Given the description of an element on the screen output the (x, y) to click on. 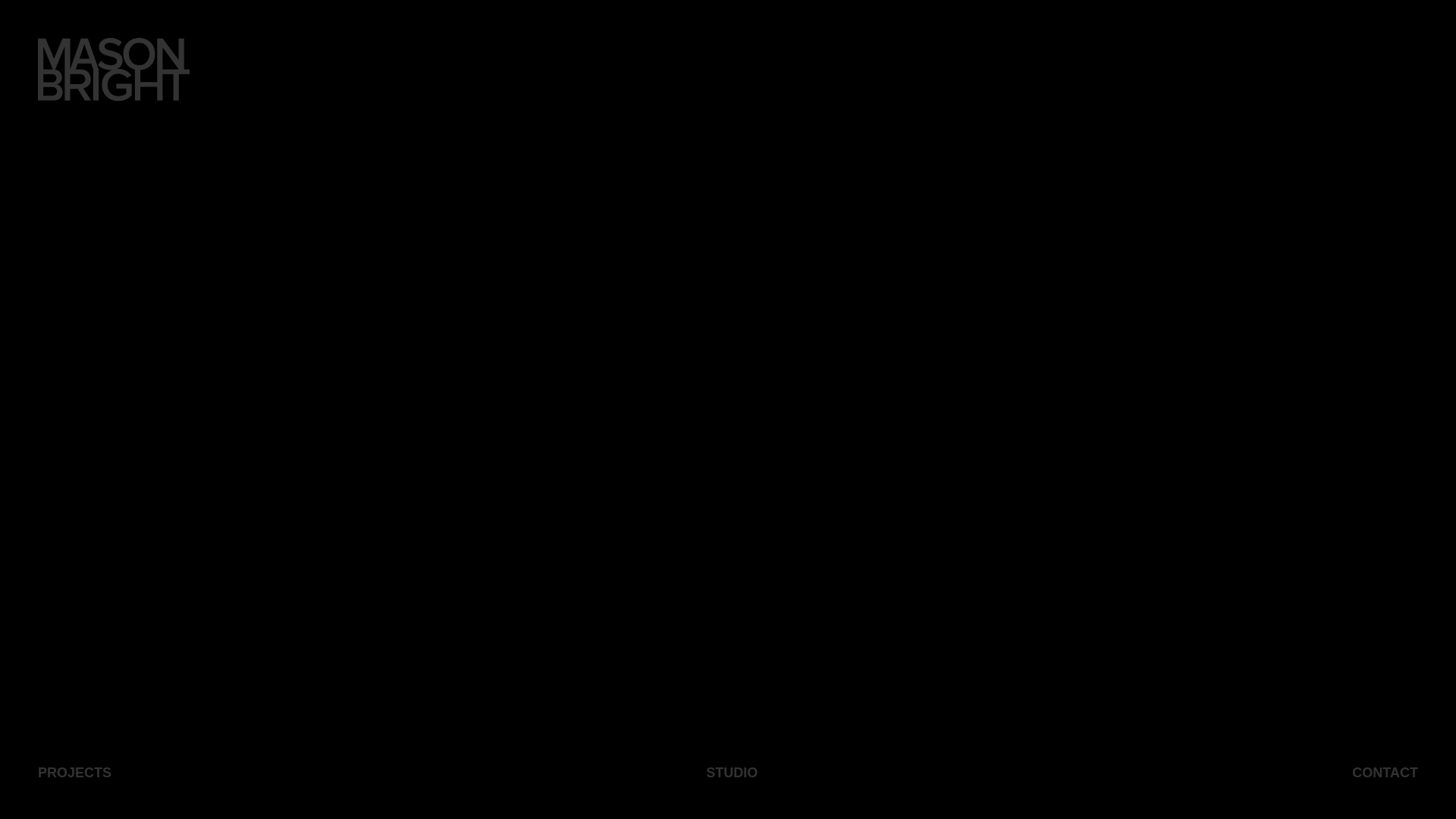
CONTACT Element type: text (1385, 772)
STUDIO Element type: text (731, 772)
PROJECTS Element type: text (74, 772)
